Given the description of an element on the screen output the (x, y) to click on. 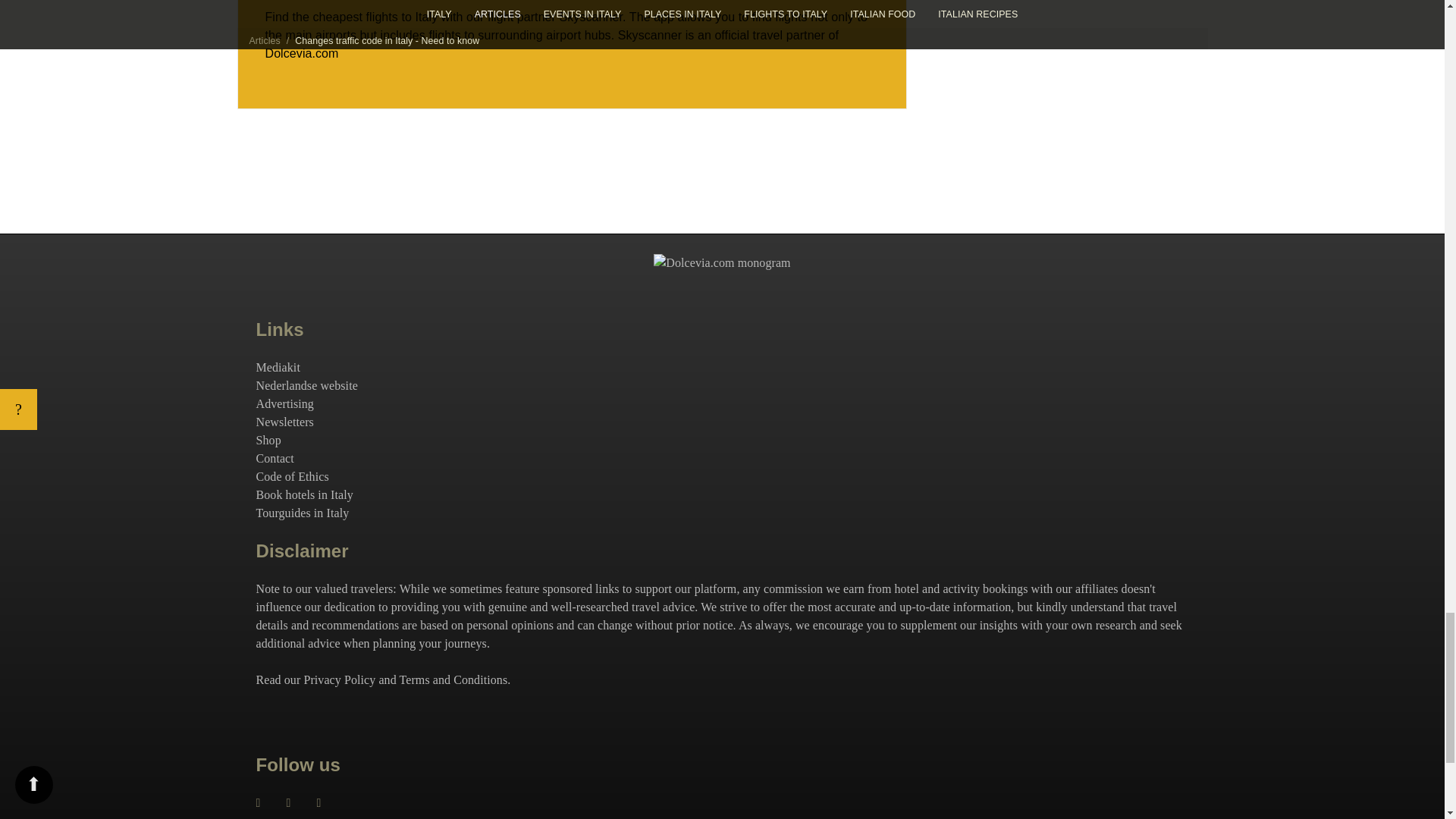
Sign up for our periodical newsletter (285, 421)
Advertising rates Dolcevia.com Italy (285, 403)
Download our Media Kit (277, 367)
Dolcevia in het Nederlands (307, 385)
